Given the description of an element on the screen output the (x, y) to click on. 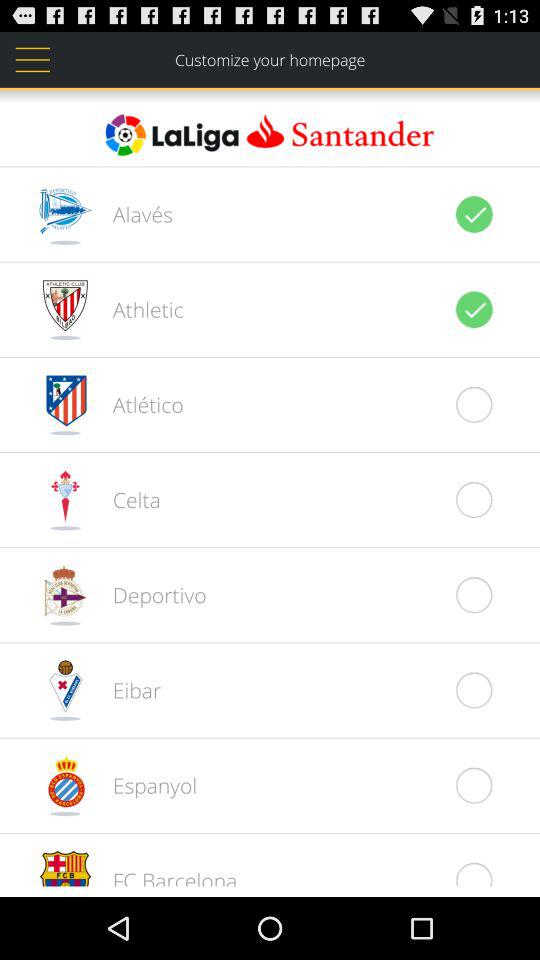
scroll until the celta (125, 499)
